Given the description of an element on the screen output the (x, y) to click on. 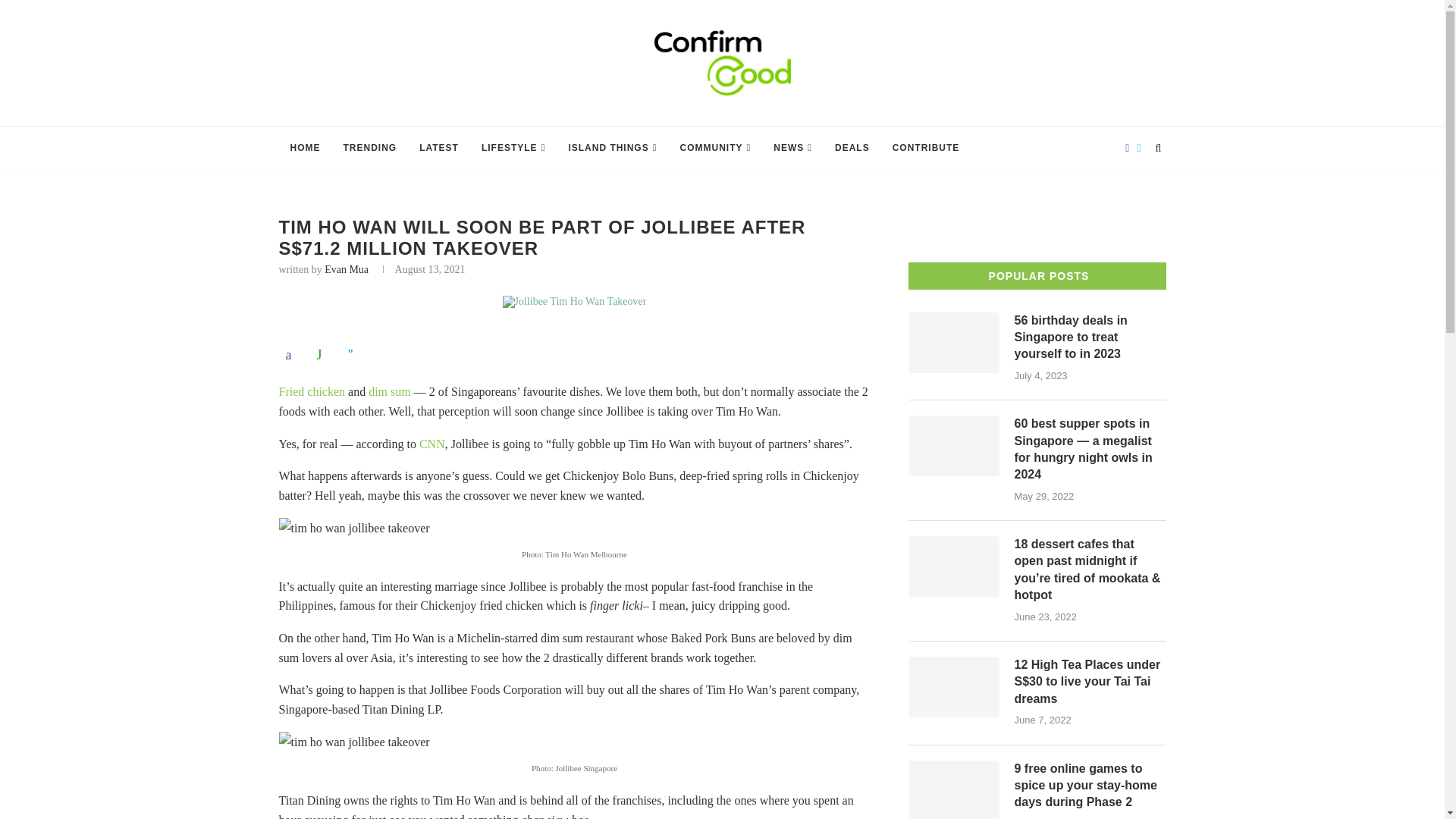
Share on Facebook (292, 354)
LIFESTYLE (513, 148)
Share on WhatsApp (322, 354)
LATEST (438, 148)
TRENDING (370, 148)
ISLAND THINGS (612, 148)
Share on Telegram (354, 354)
HOME (305, 148)
